Given the description of an element on the screen output the (x, y) to click on. 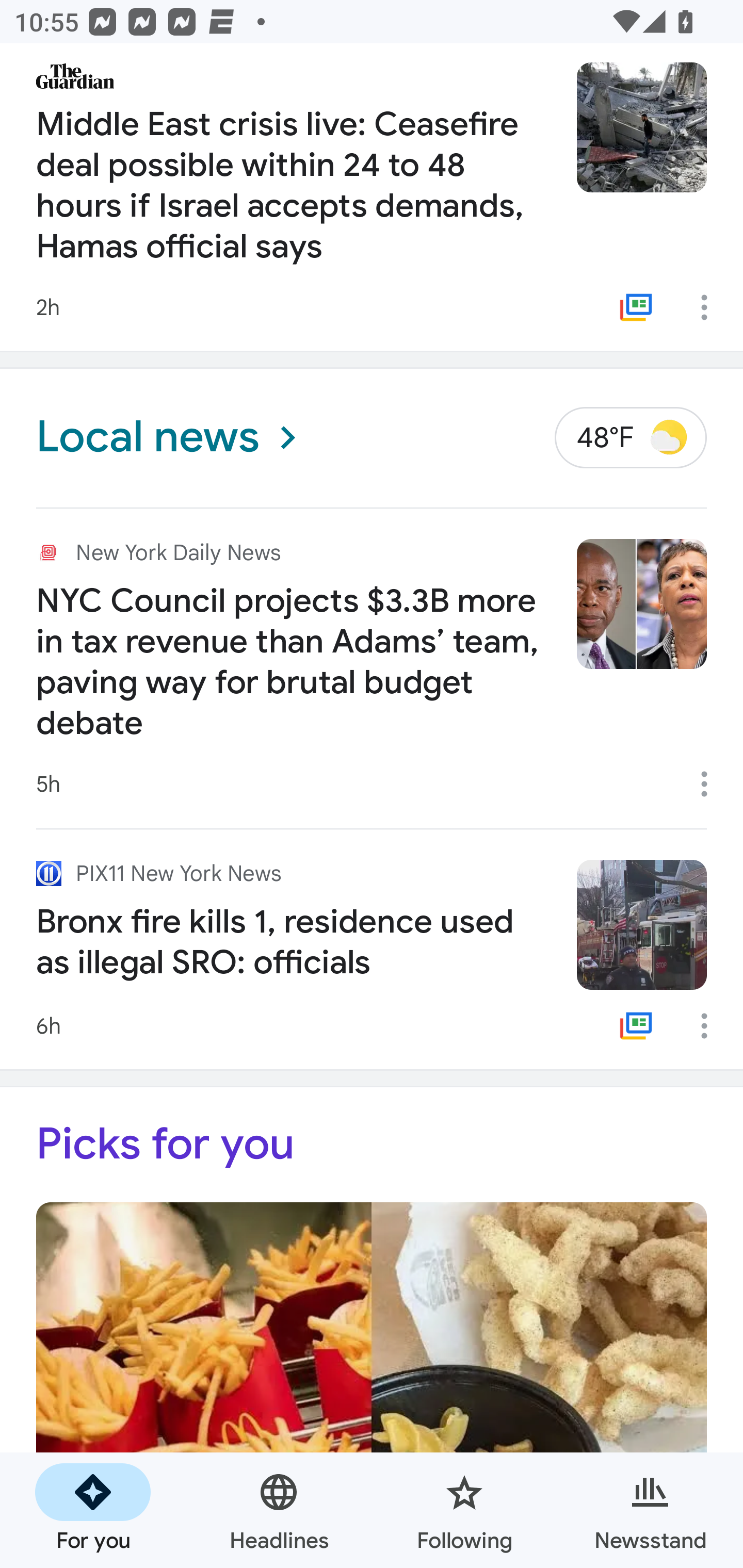
More options (711, 307)
More options (711, 783)
More options (711, 1026)
For you (92, 1509)
Headlines (278, 1509)
Following (464, 1509)
Newsstand (650, 1509)
